Given the description of an element on the screen output the (x, y) to click on. 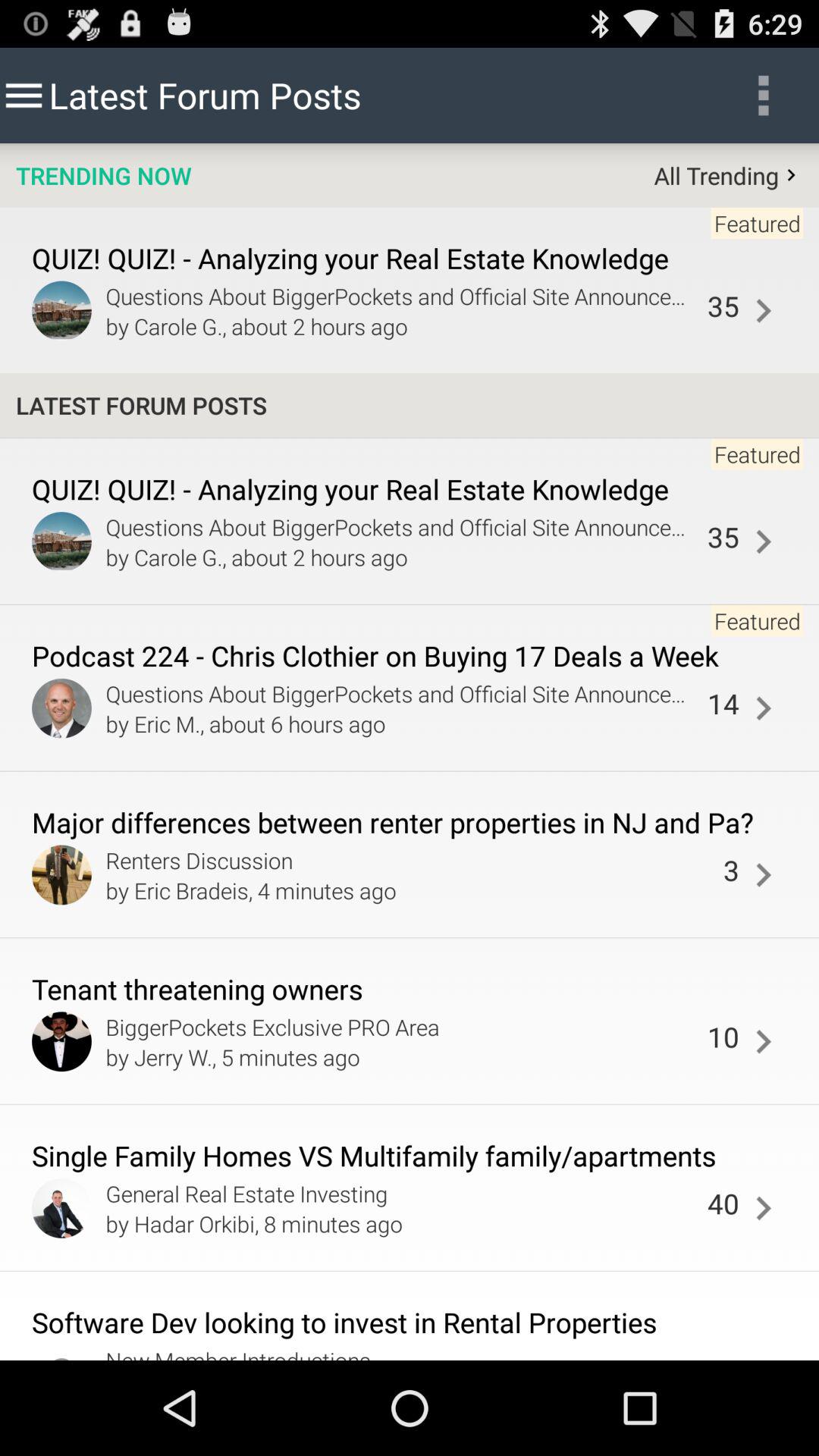
jump until by hadar orkibi (402, 1223)
